Given the description of an element on the screen output the (x, y) to click on. 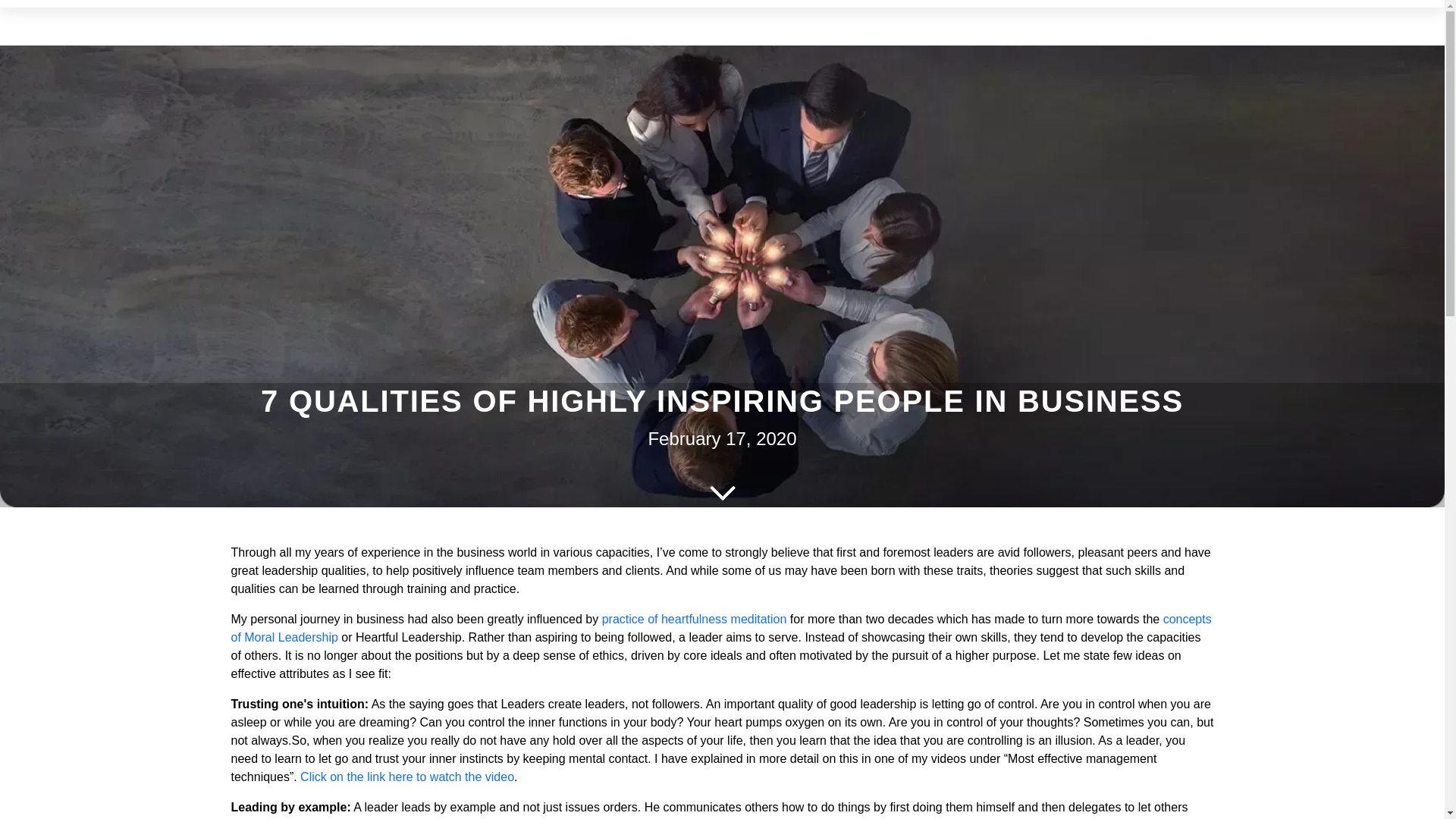
Click on the link here to watch the video (406, 776)
concepts of Moral Leadership (720, 627)
practice of heartfulness meditation (694, 618)
